Given the description of an element on the screen output the (x, y) to click on. 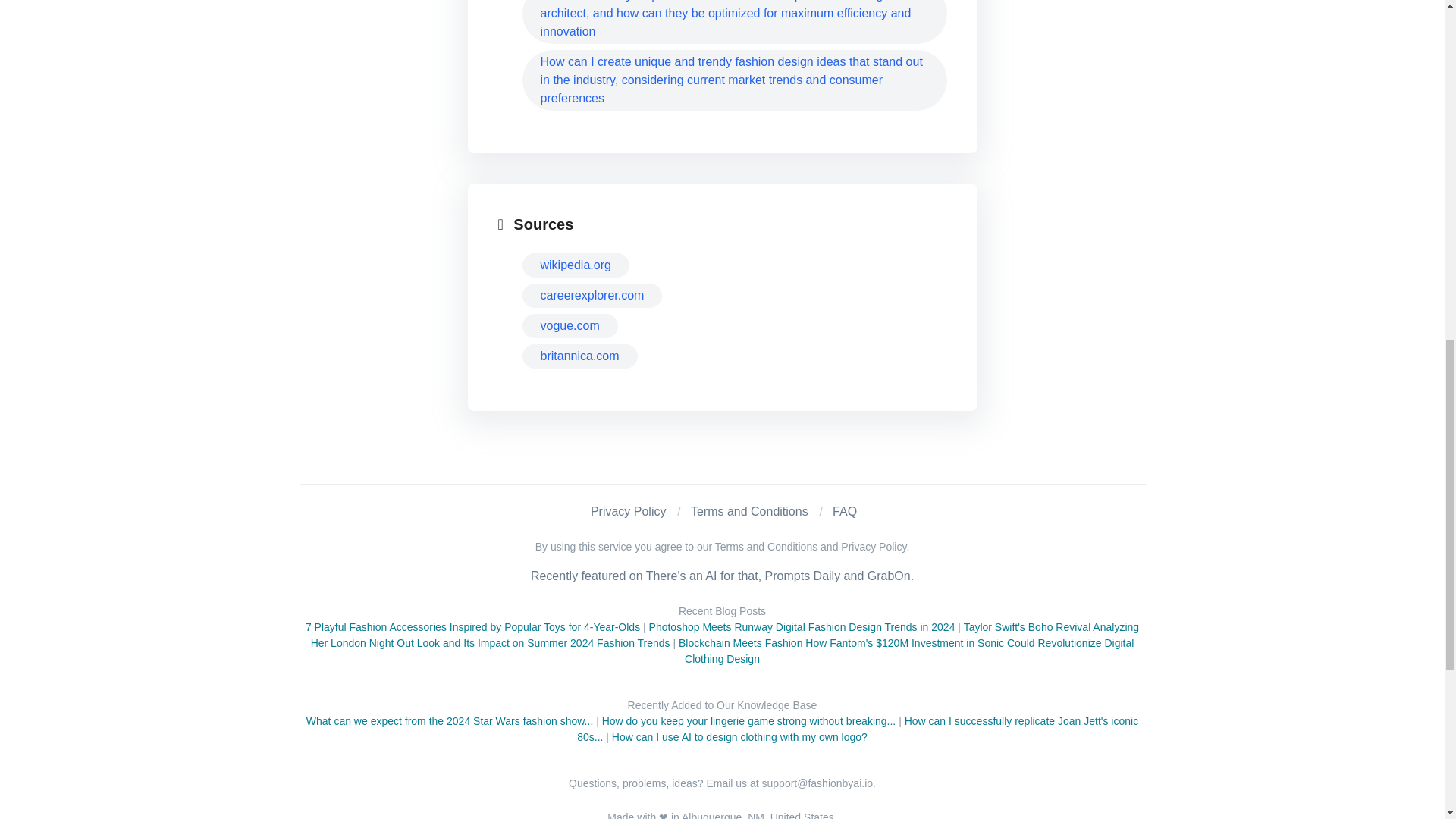
FAQ (844, 511)
What can we expect from the 2024 Star Wars fashion show... (448, 720)
Terms and Conditions (749, 511)
How can I use AI to design clothing with my own logo? (739, 736)
How can I successfully replicate Joan Jett's iconic 80s... (857, 728)
vogue.com (569, 325)
Privacy Policy (628, 511)
